Given the description of an element on the screen output the (x, y) to click on. 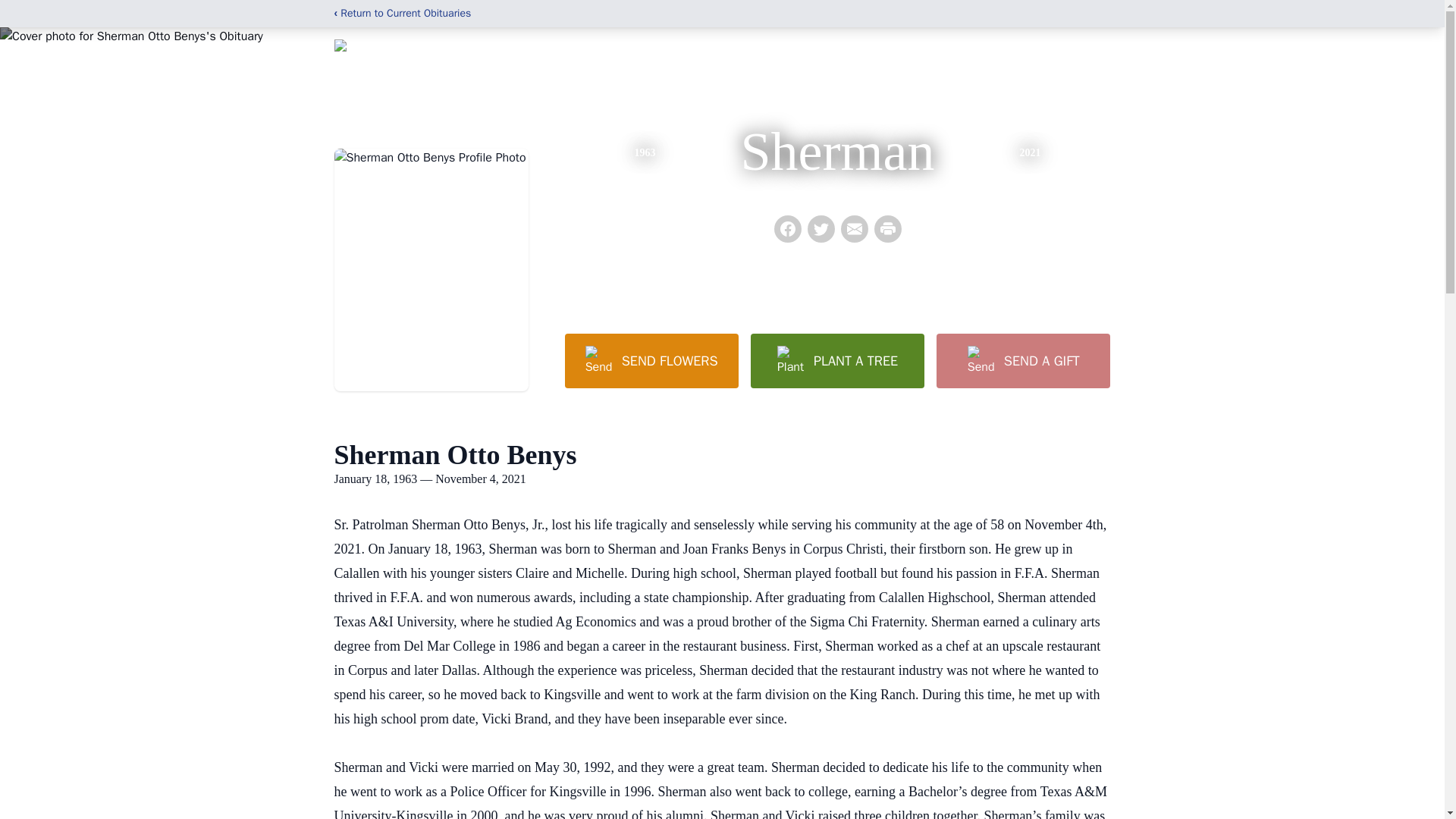
SEND A GIFT (1022, 360)
PLANT A TREE (837, 360)
SEND FLOWERS (651, 360)
